Given the description of an element on the screen output the (x, y) to click on. 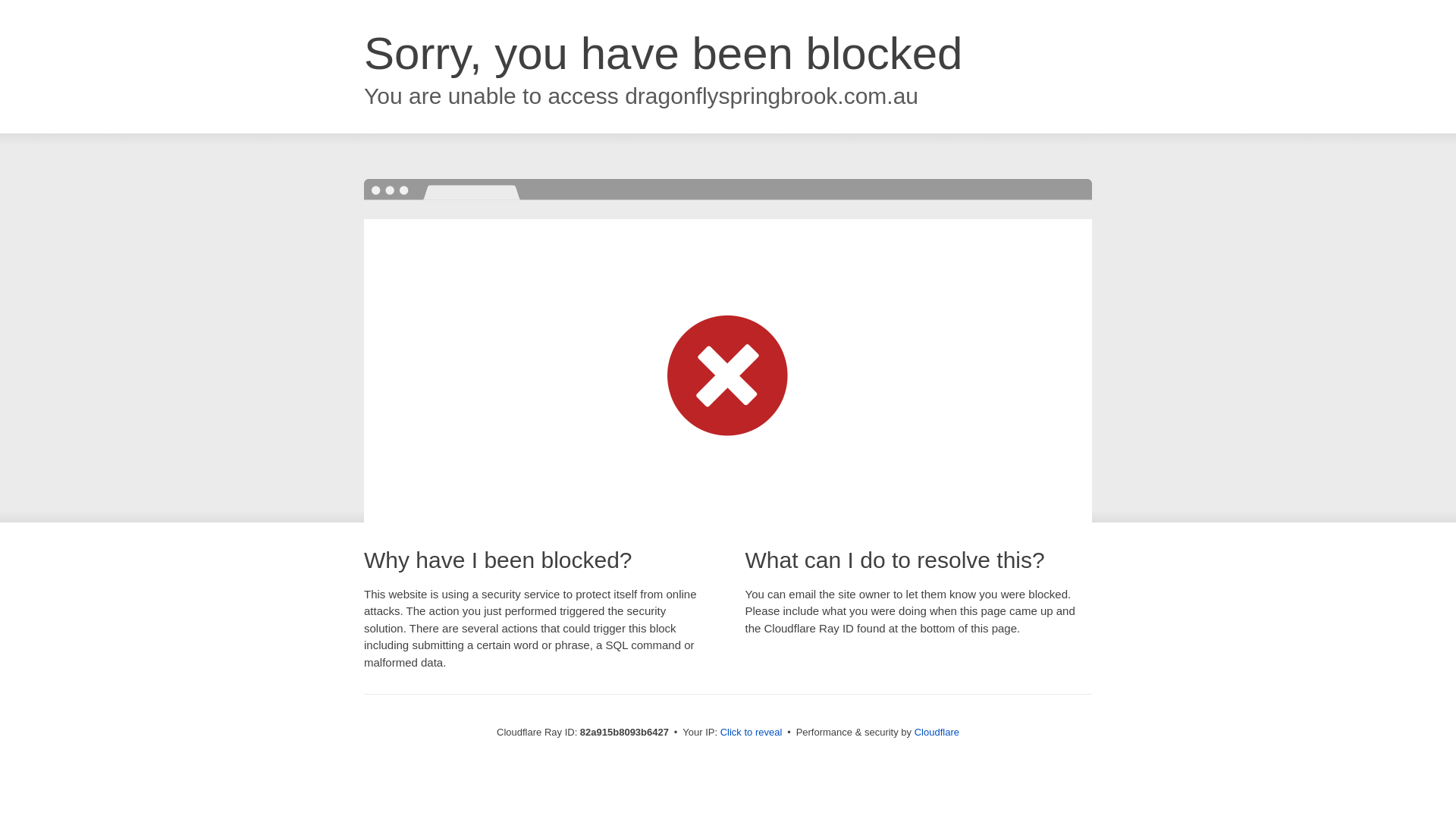
Click to reveal Element type: text (751, 732)
Cloudflare Element type: text (936, 731)
